Given the description of an element on the screen output the (x, y) to click on. 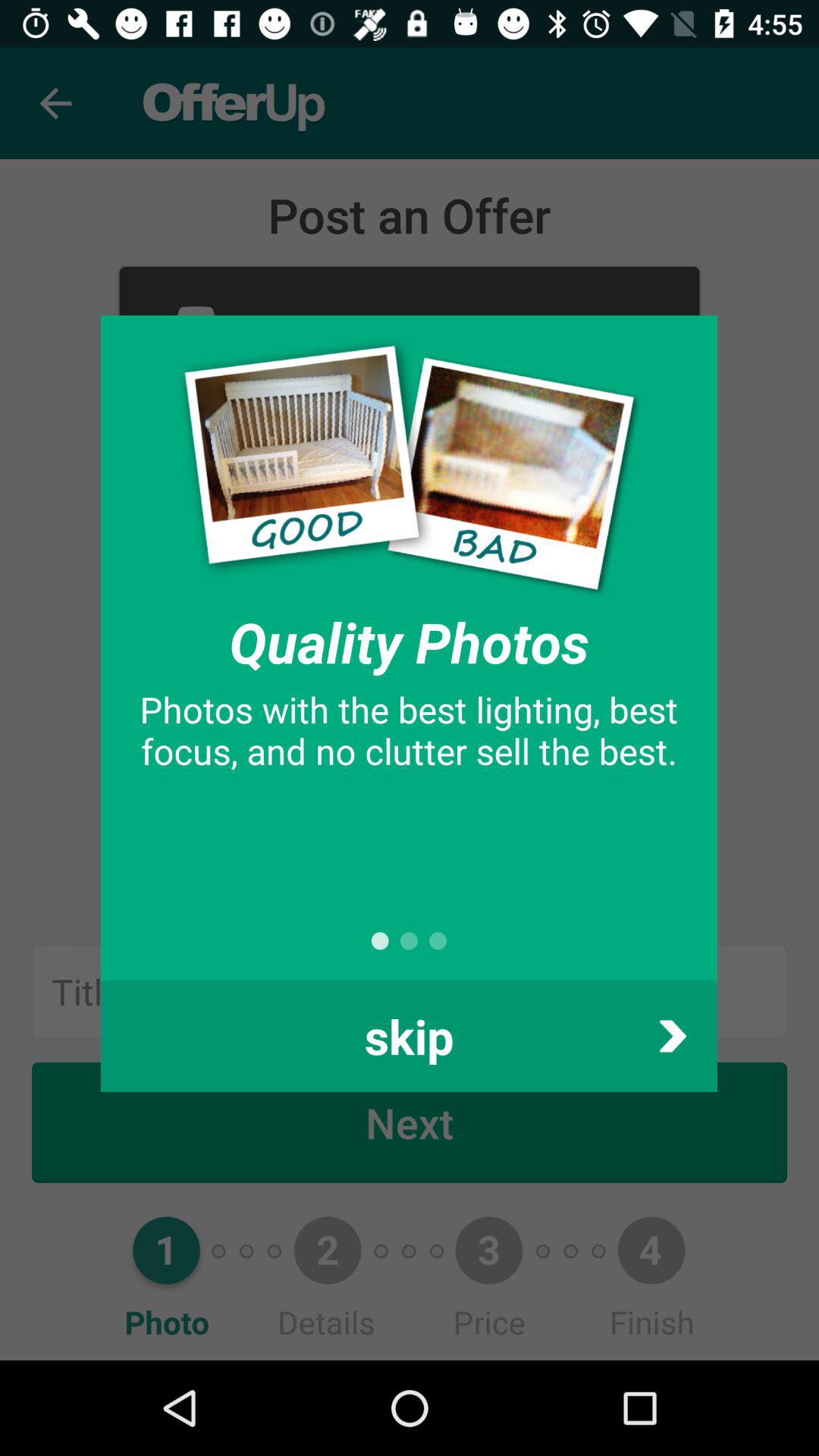
turn off item at the bottom (408, 1036)
